Given the description of an element on the screen output the (x, y) to click on. 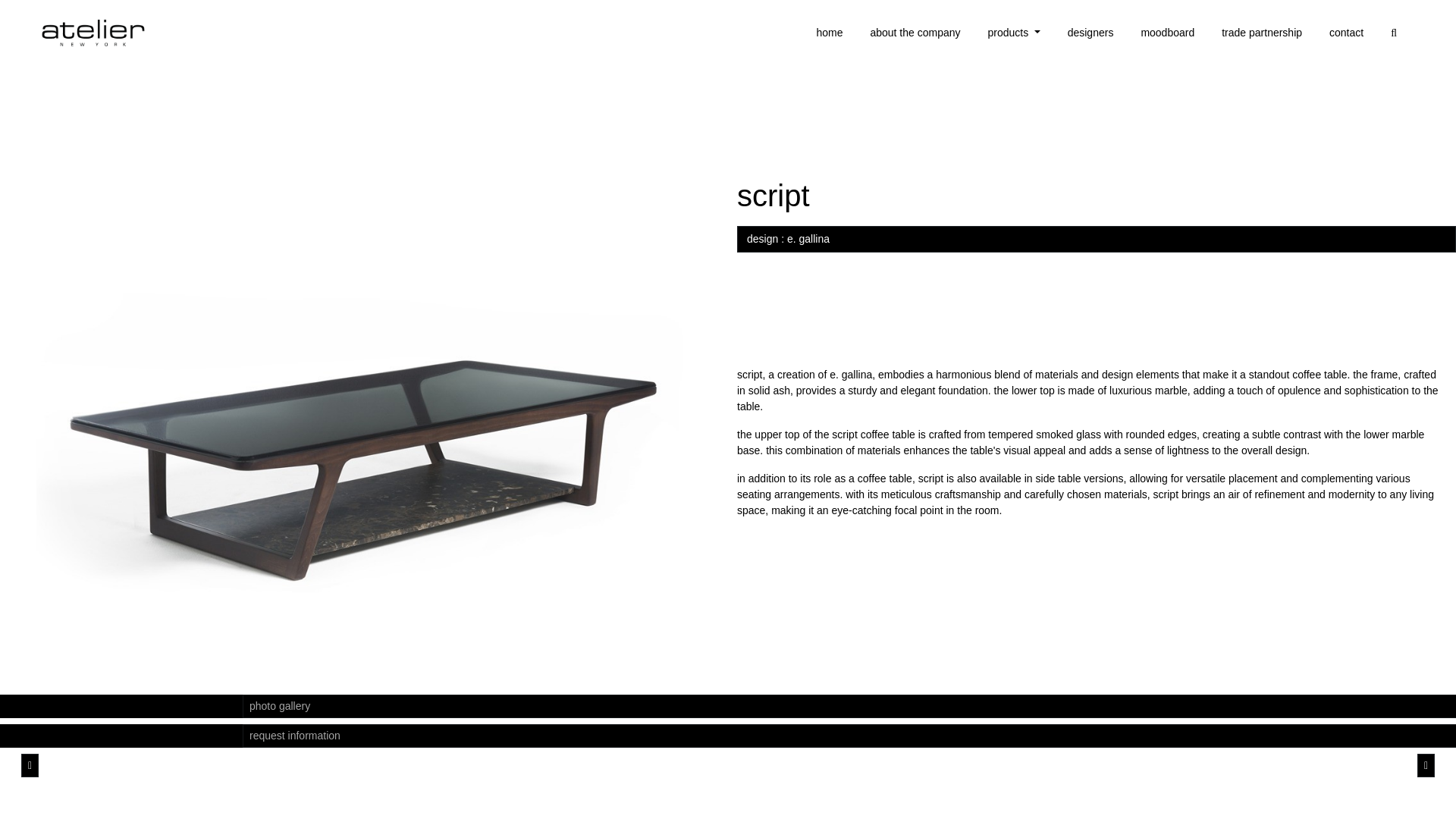
designers (1090, 32)
contact (1346, 32)
about the company (914, 32)
trade partnership (1261, 32)
products (1013, 32)
moodboard (1166, 32)
home (828, 32)
